Given the description of an element on the screen output the (x, y) to click on. 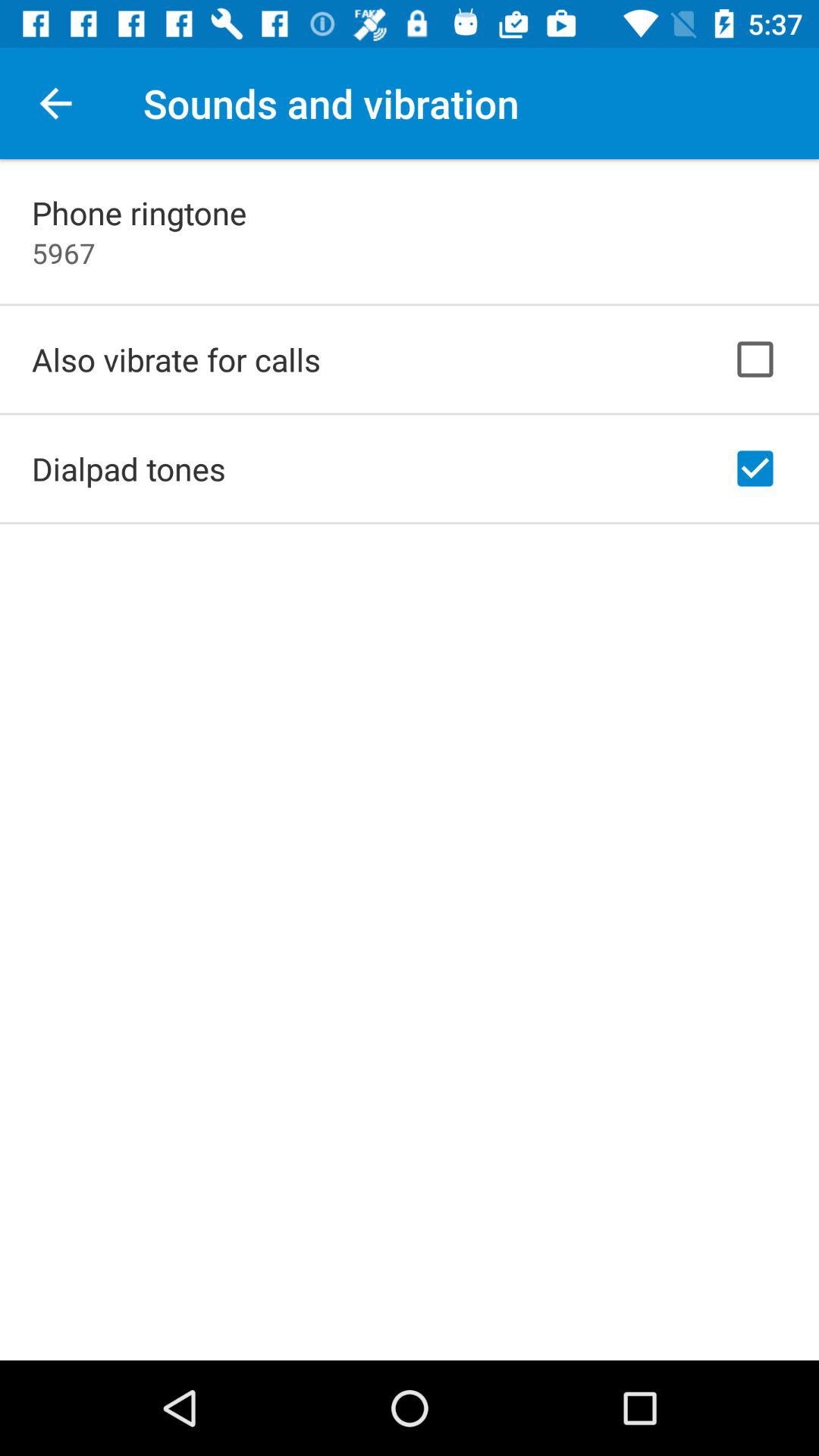
swipe until also vibrate for item (175, 359)
